Given the description of an element on the screen output the (x, y) to click on. 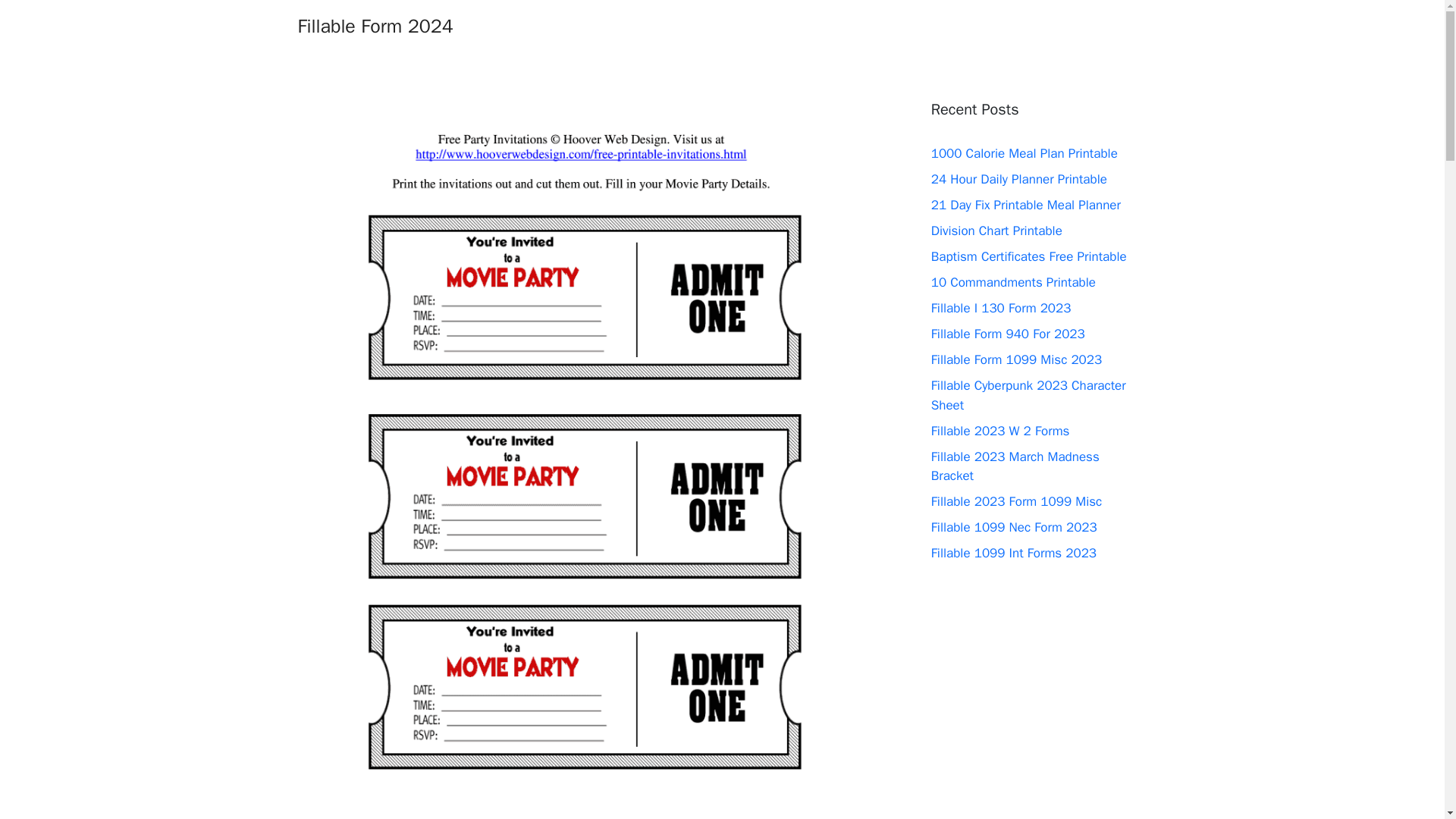
Fillable Form 1099 Misc 2023 (1016, 359)
Fillable 1099 Nec Form 2023 (1014, 527)
Fillable 2023 W 2 Forms (1000, 430)
10 Commandments Printable (1013, 282)
Fillable 1099 Int Forms 2023 (1013, 553)
Fillable Form 2024 (374, 25)
Baptism Certificates Free Printable (1028, 256)
Fillable Cyberpunk 2023 Character Sheet (1028, 395)
Division Chart Printable (996, 230)
1000 Calorie Meal Plan Printable (1024, 153)
